Given the description of an element on the screen output the (x, y) to click on. 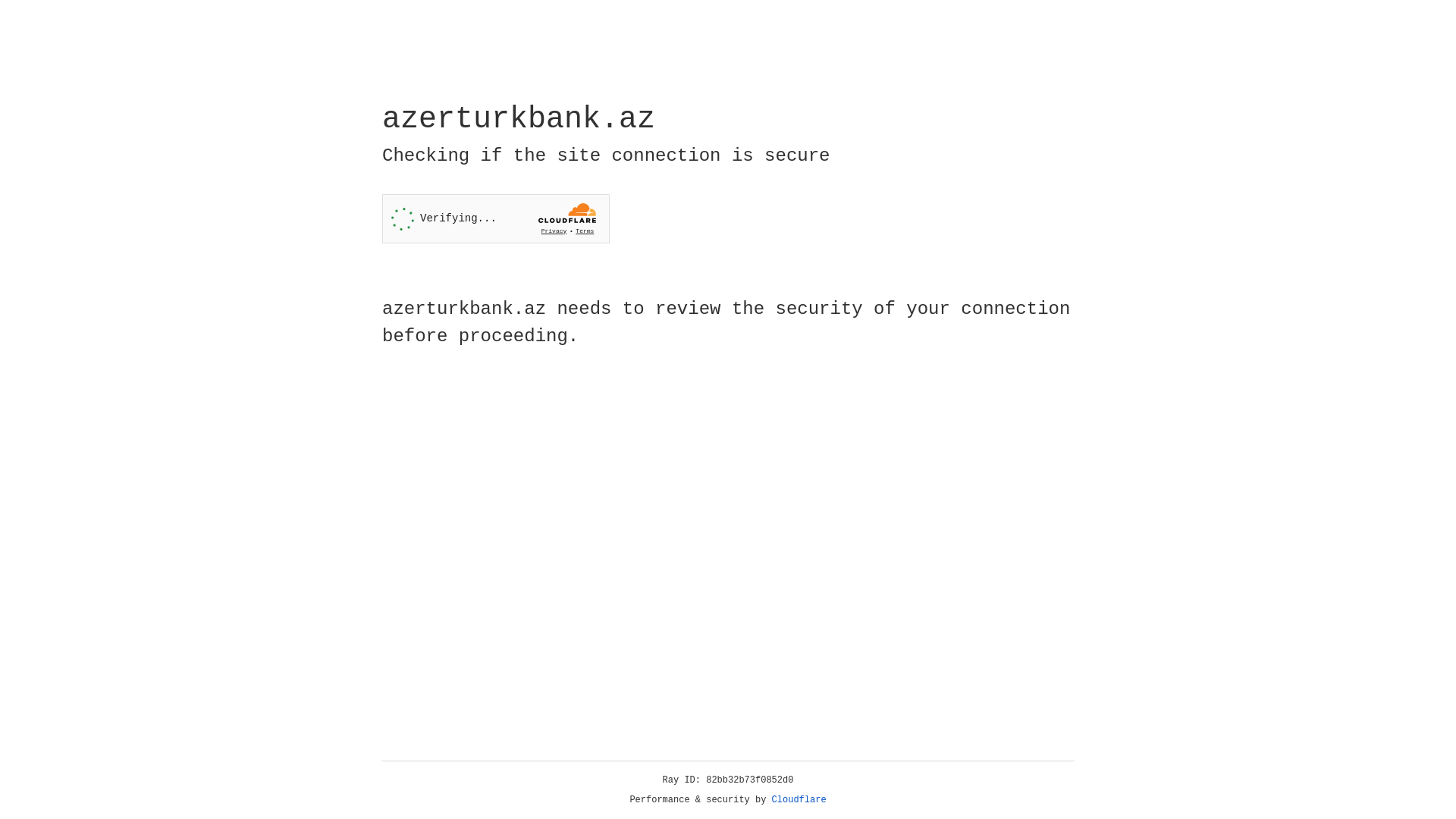
Widget containing a Cloudflare security challenge Element type: hover (495, 218)
Cloudflare Element type: text (798, 799)
